Given the description of an element on the screen output the (x, y) to click on. 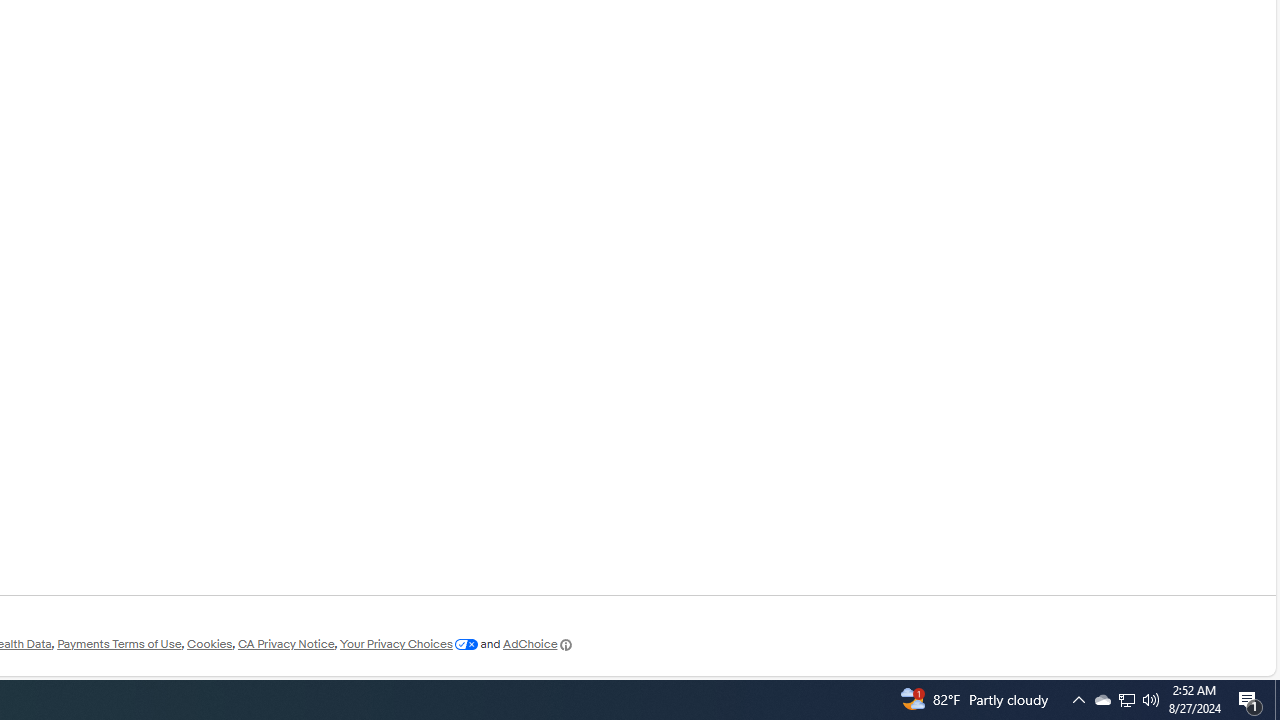
Payments Terms of Use (119, 644)
CA Privacy Notice (285, 644)
Your Privacy Choices (408, 644)
AdChoice (538, 644)
Cookies (209, 644)
